Given the description of an element on the screen output the (x, y) to click on. 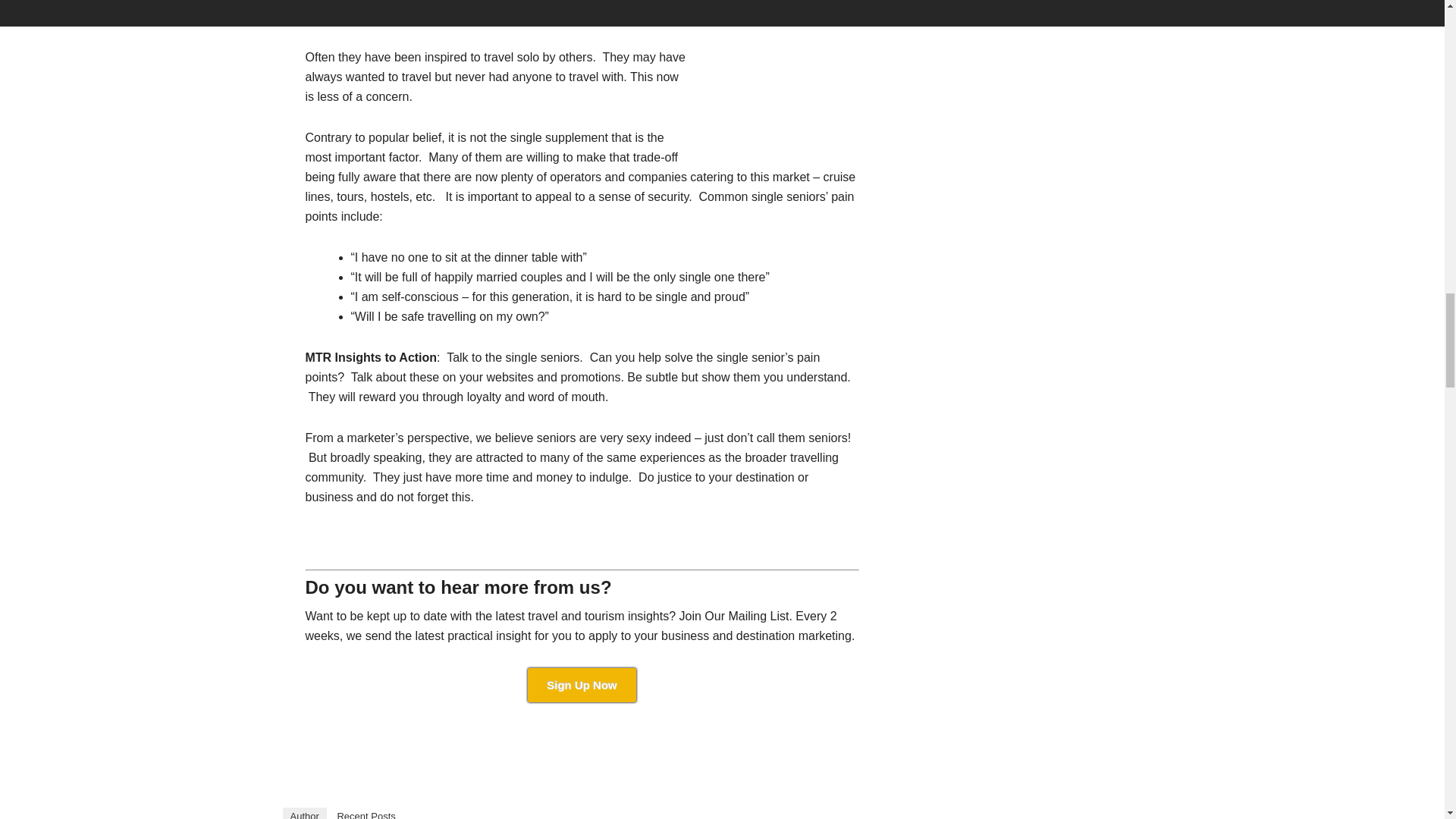
Recent Posts (366, 813)
Author (304, 813)
Sign Up Now (582, 684)
